Given the description of an element on the screen output the (x, y) to click on. 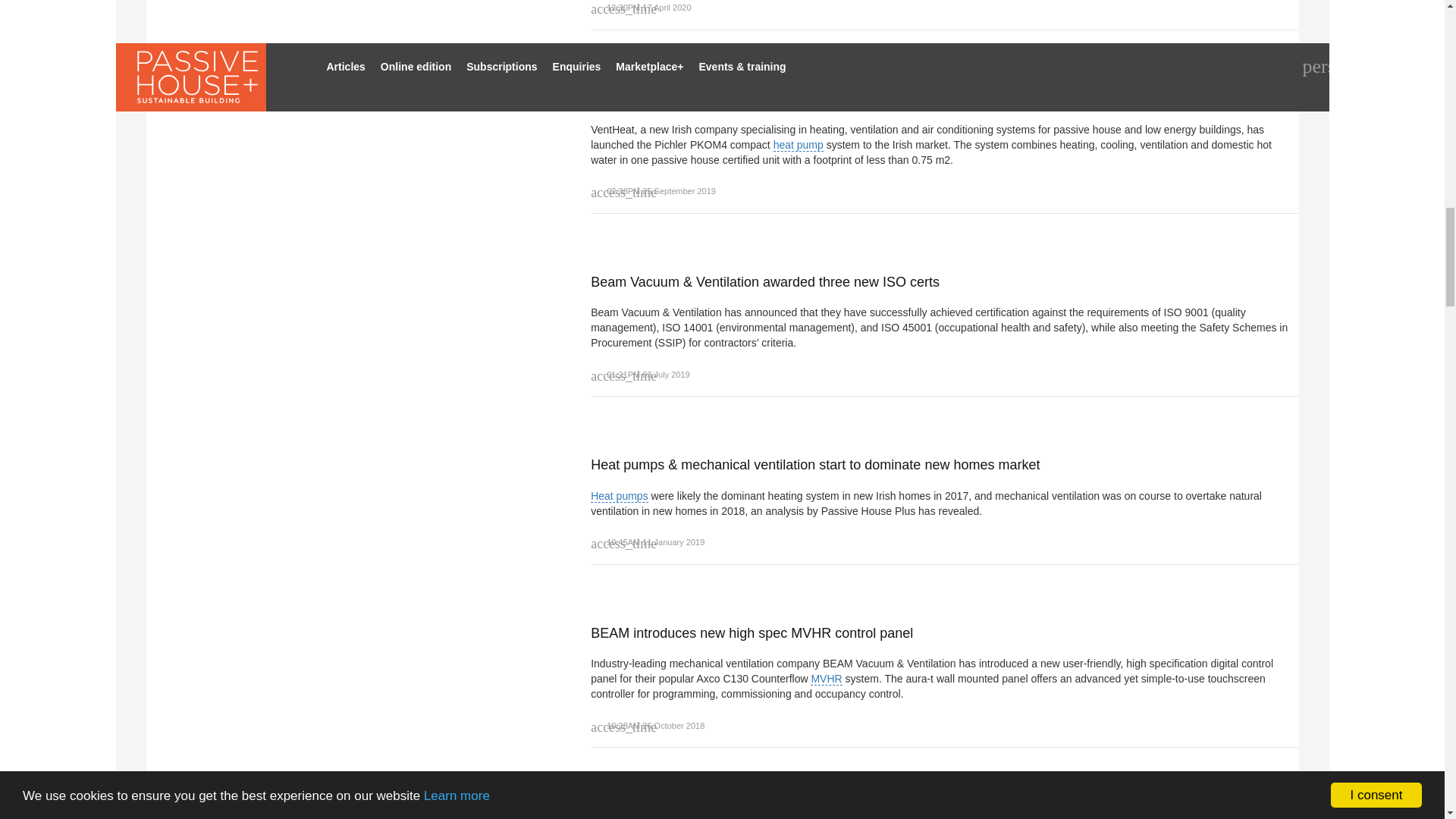
heat pump (798, 144)
